Given the description of an element on the screen output the (x, y) to click on. 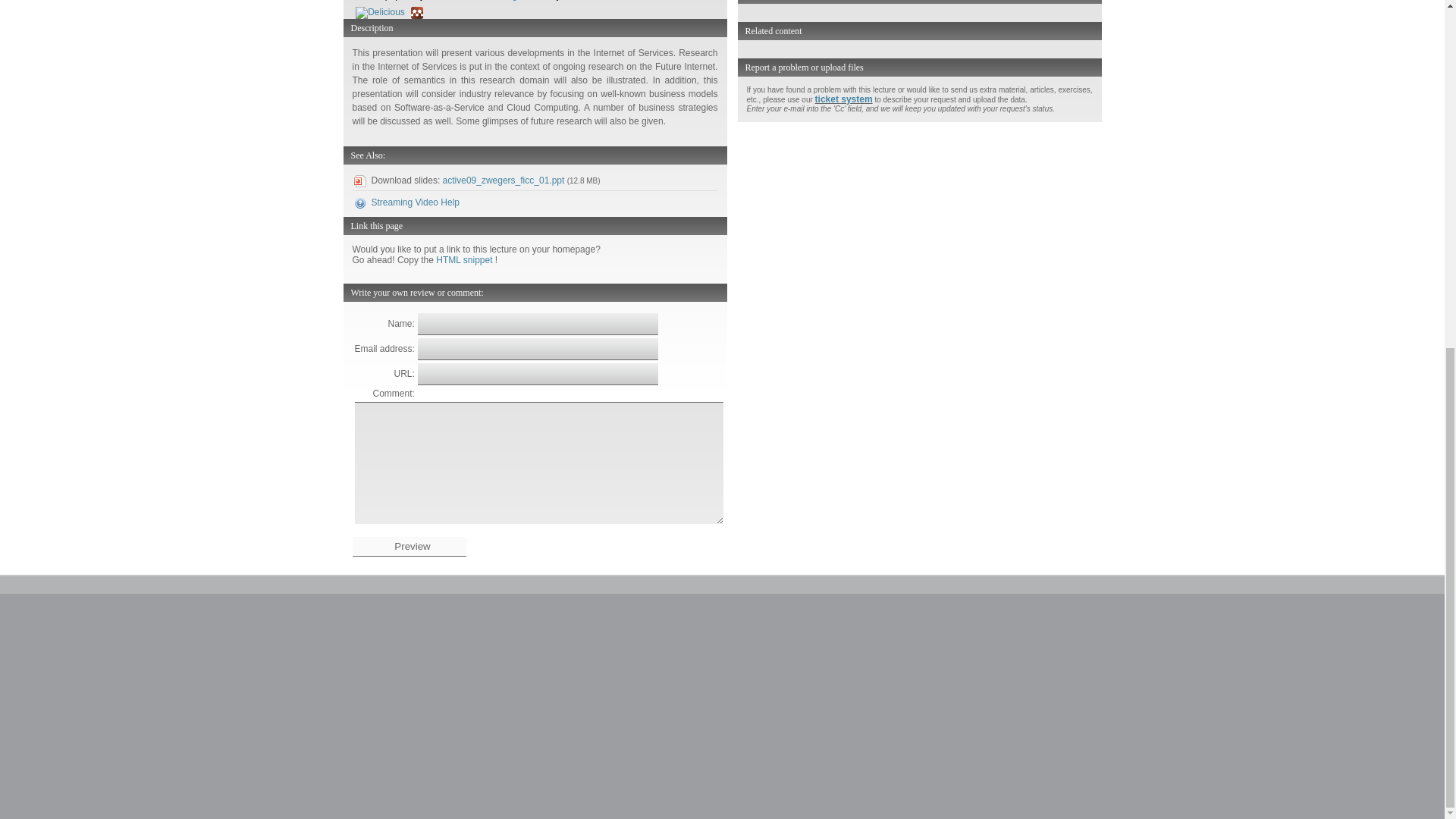
Preview (408, 546)
Preview (408, 546)
Streaming Video Help (415, 202)
Add to Mendeley (416, 11)
Add to Delicious (382, 11)
ticket system (843, 99)
HTML snippet (465, 259)
